Given the description of an element on the screen output the (x, y) to click on. 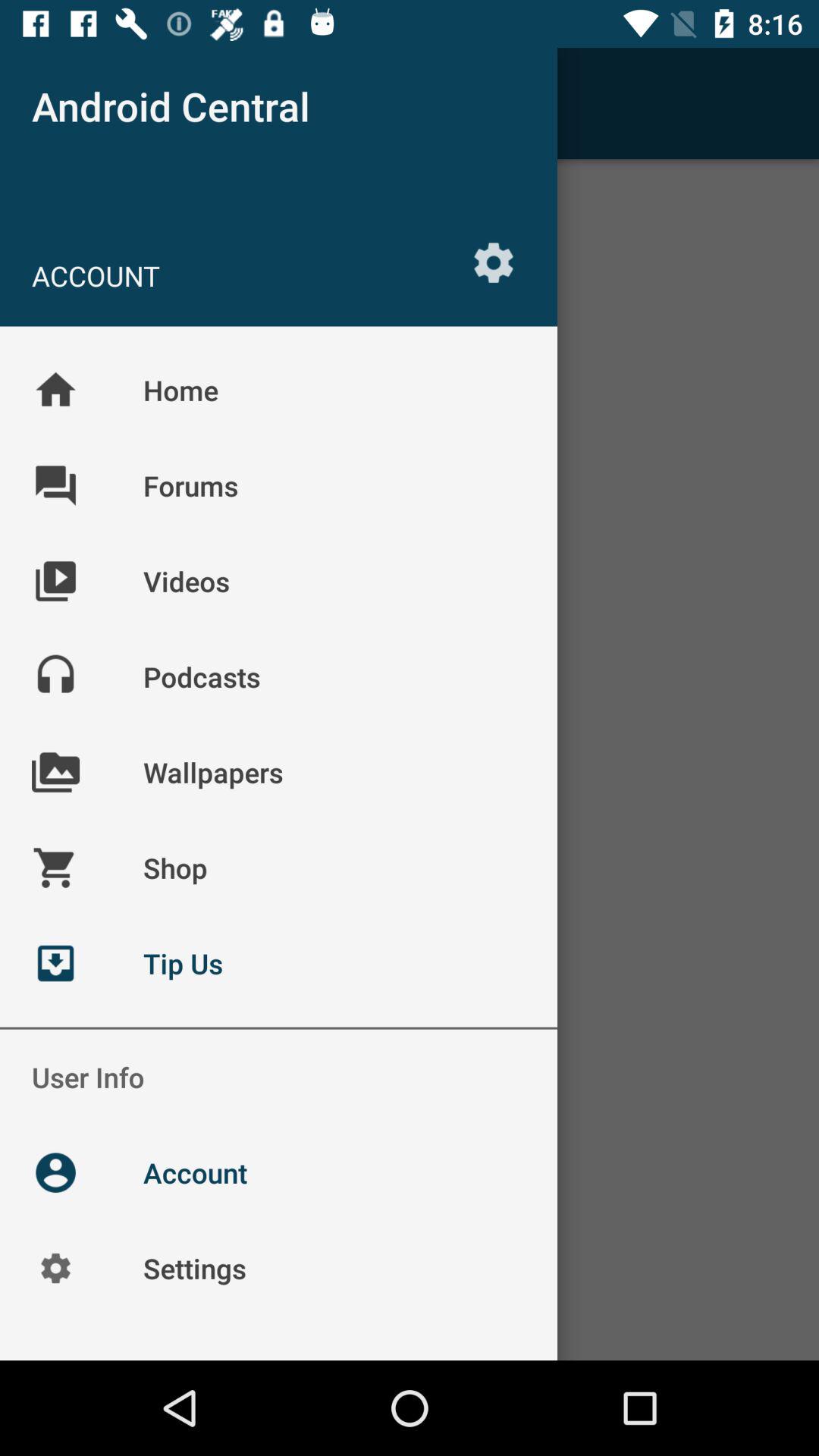
settings (493, 262)
